Given the description of an element on the screen output the (x, y) to click on. 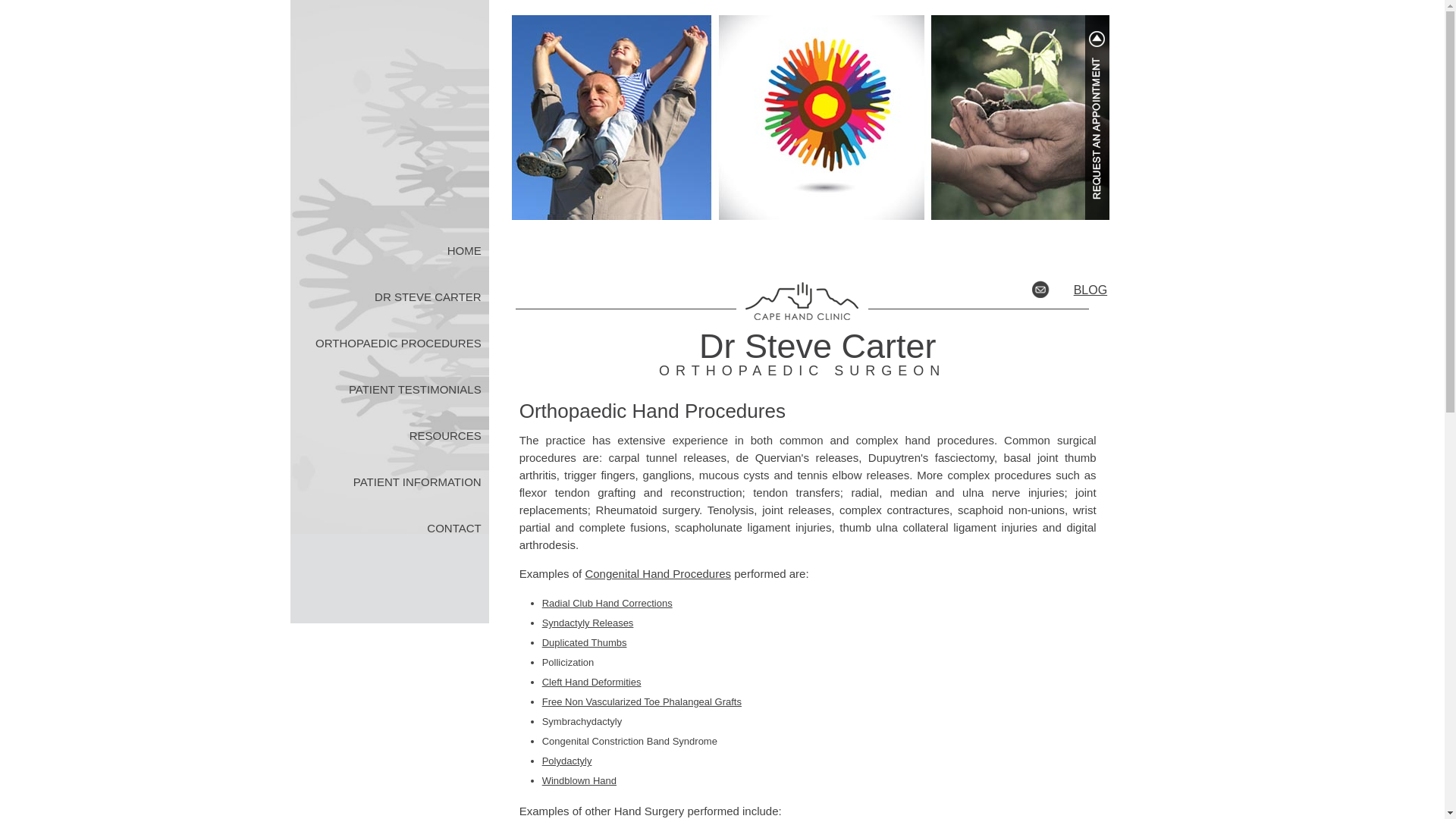
HOME (388, 250)
RESOURCES (388, 435)
PATIENT INFORMATION (388, 481)
PATIENT TESTIMONIALS (388, 389)
DR STEVE CARTER (388, 296)
Prev (508, 109)
ORTHOPAEDIC PROCEDURES (388, 343)
CONTACT (388, 528)
BLOG (1083, 289)
Next (1089, 109)
